Given the description of an element on the screen output the (x, y) to click on. 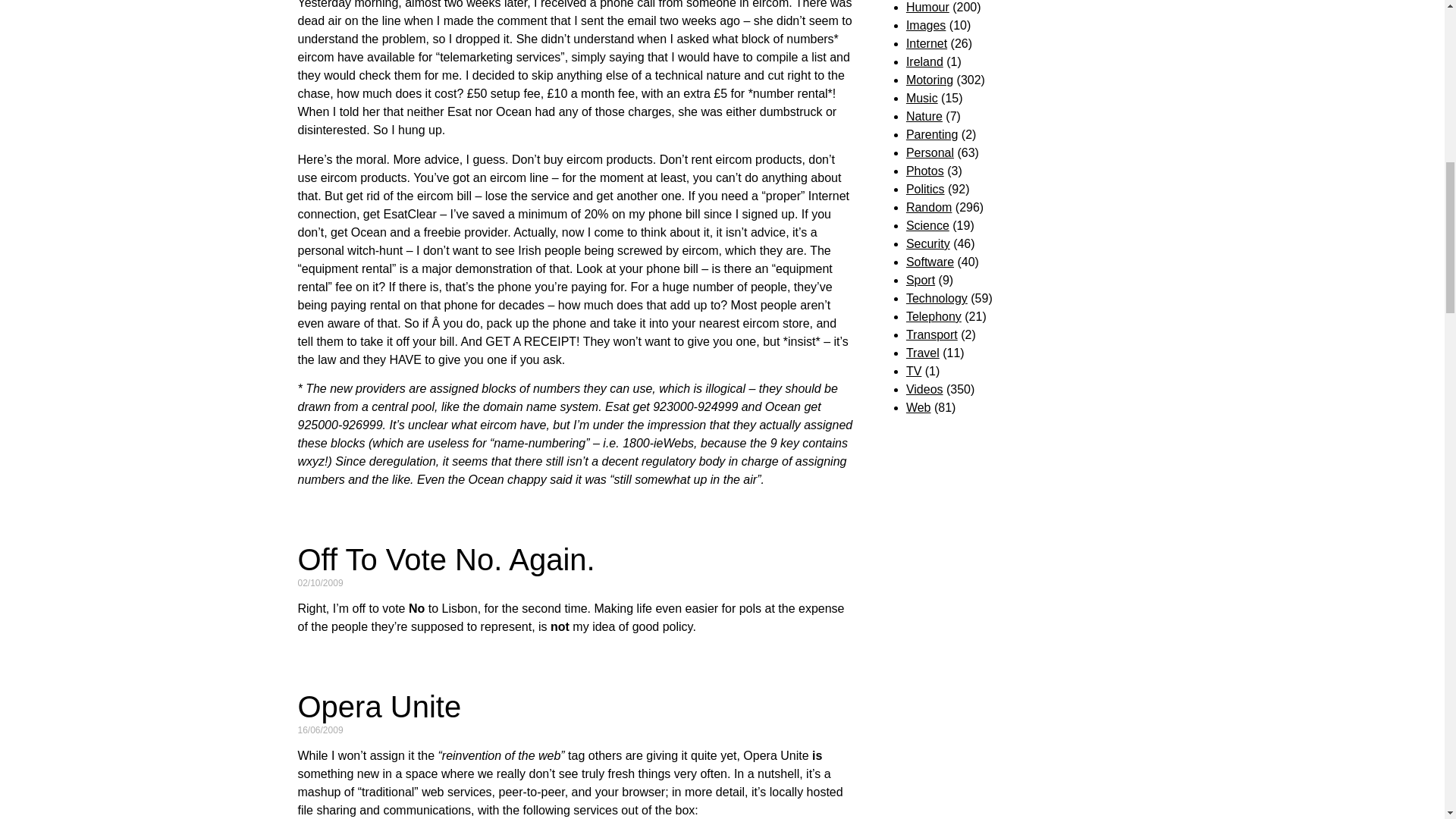
Opera Unite (379, 706)
Off To Vote No. Again. (445, 559)
